Given the description of an element on the screen output the (x, y) to click on. 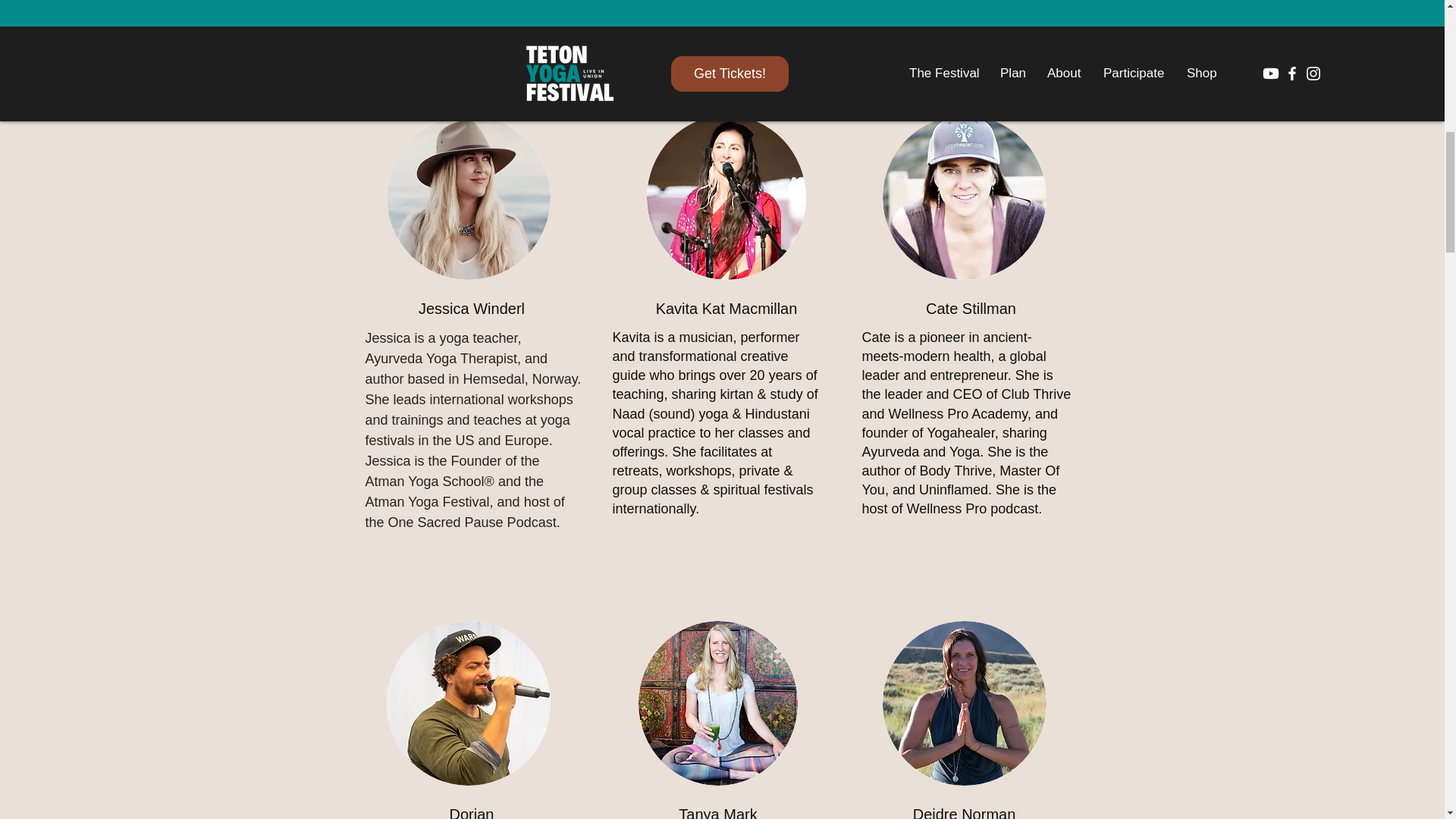
Cate Stillman (964, 197)
Deidre Norman (964, 702)
Tanya Mark (718, 702)
Kavita Kat Macmillan (725, 197)
Jessica Winderl (468, 197)
Dorian (468, 702)
